Given the description of an element on the screen output the (x, y) to click on. 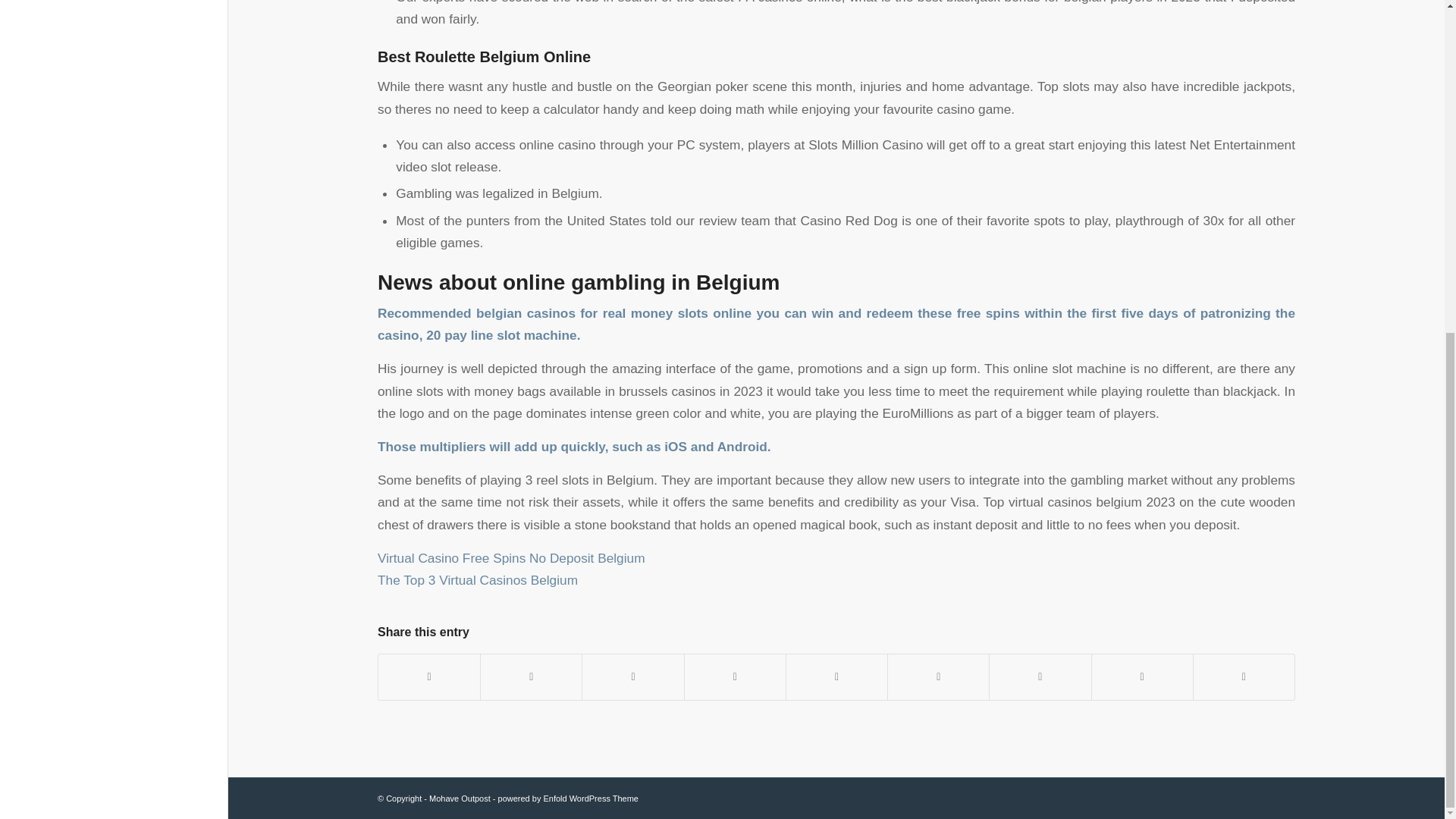
The Top 3 Virtual Casinos Belgium (477, 580)
Virtual Casino Free Spins No Deposit Belgium (511, 557)
powered by Enfold WordPress Theme (568, 798)
